Given the description of an element on the screen output the (x, y) to click on. 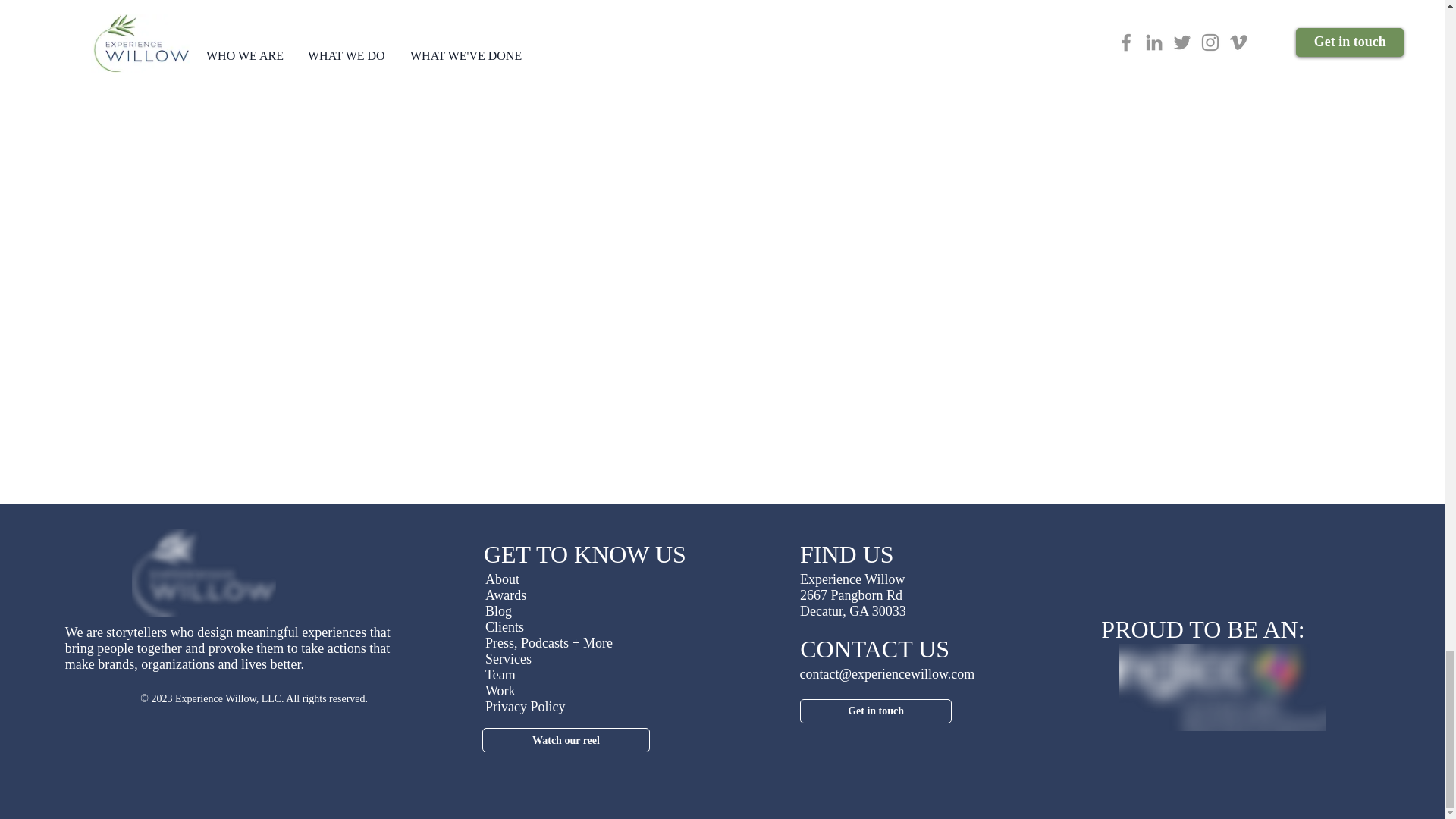
. All rights reserved. (324, 698)
Awards (504, 595)
About (501, 579)
Work (499, 690)
Clients (504, 626)
Services (507, 658)
Blog (498, 611)
Team (499, 674)
Privacy Policy (525, 706)
Watch our reel (565, 740)
